Given the description of an element on the screen output the (x, y) to click on. 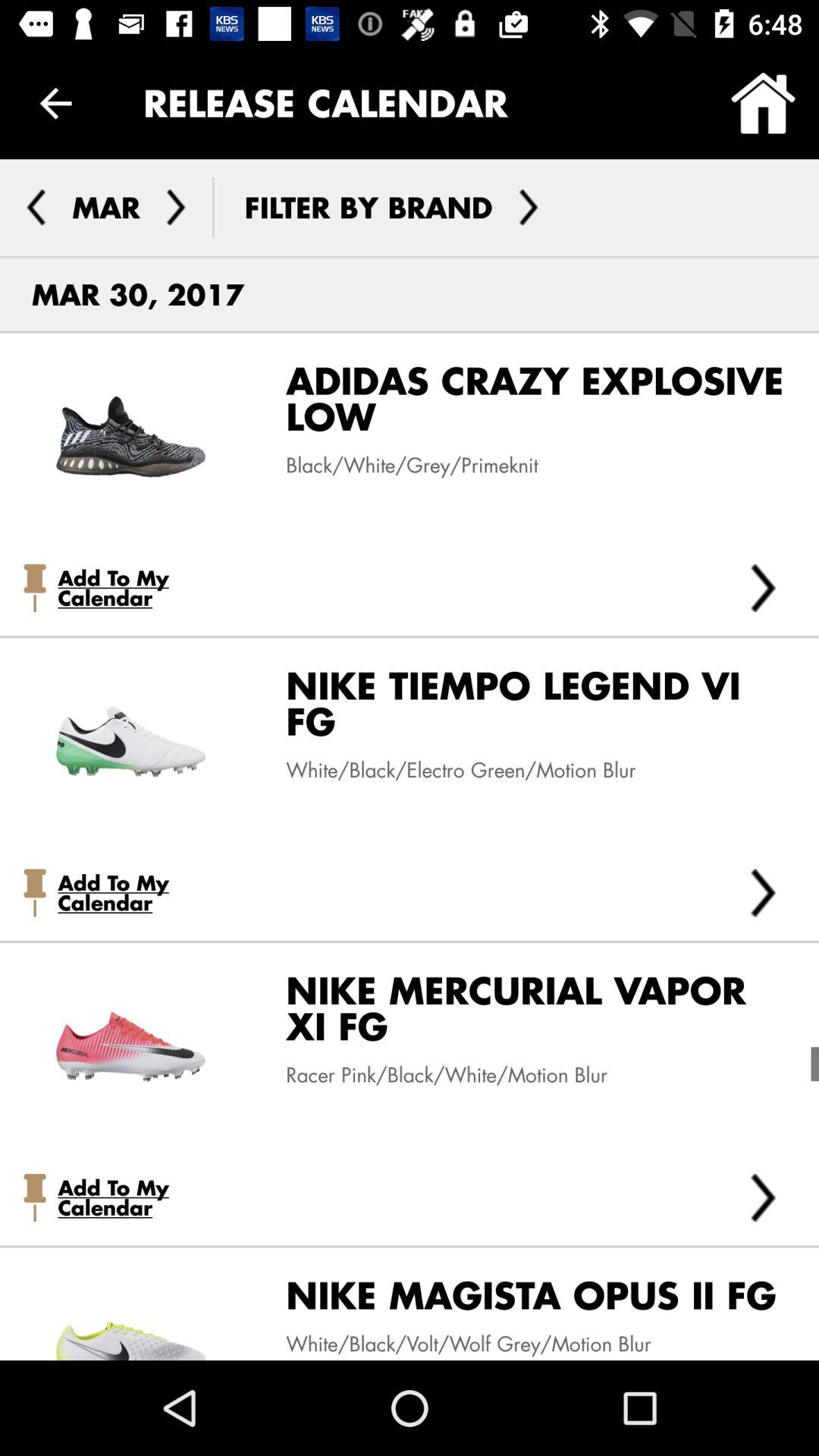
select icon at the bottom right corner (763, 1197)
